Given the description of an element on the screen output the (x, y) to click on. 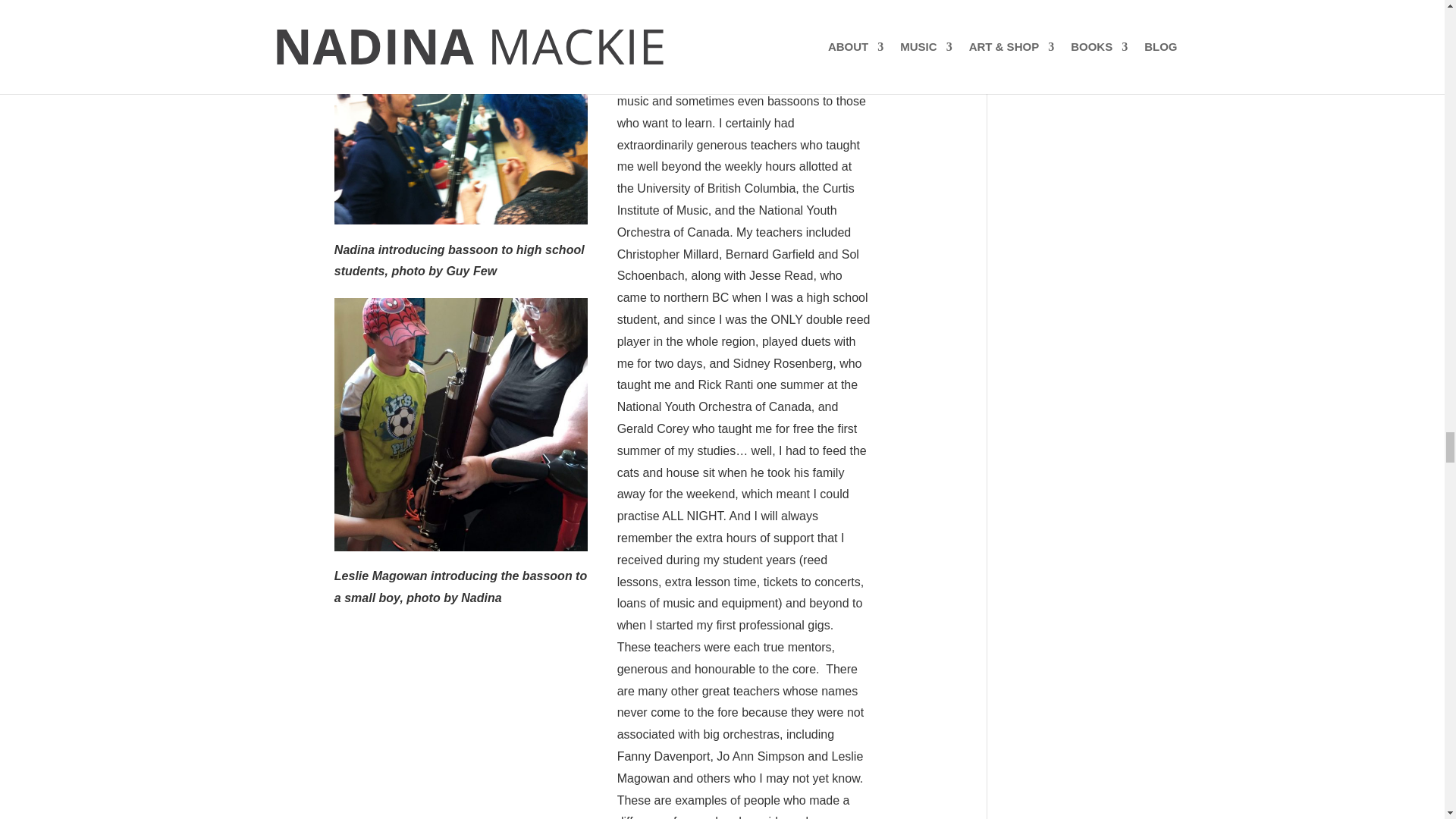
Leslie-Kristhen-with Luke (461, 424)
Nadina introducing the bassoon at high school (461, 135)
